Given the description of an element on the screen output the (x, y) to click on. 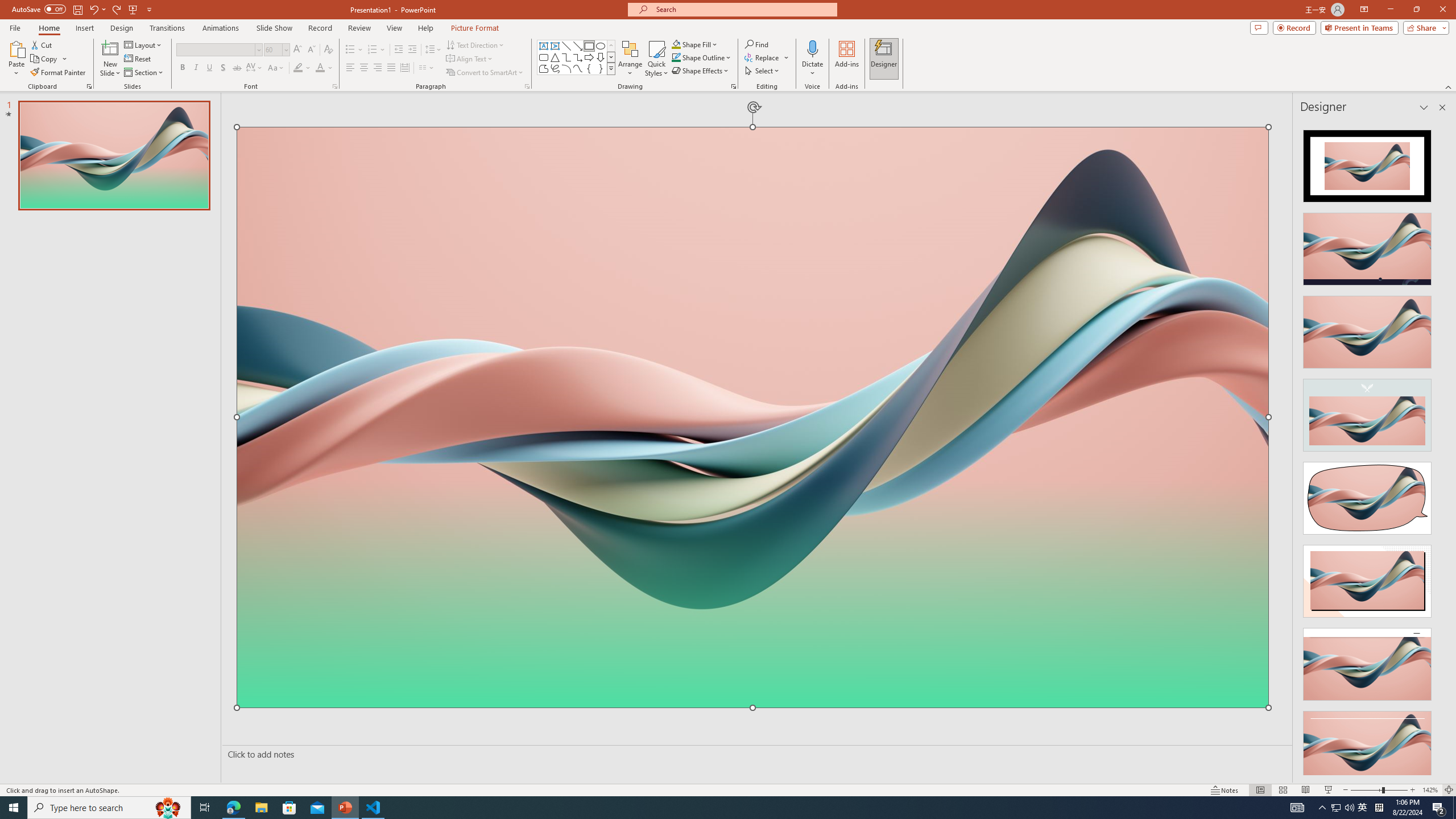
Decorative Locked (752, 575)
